Given the description of an element on the screen output the (x, y) to click on. 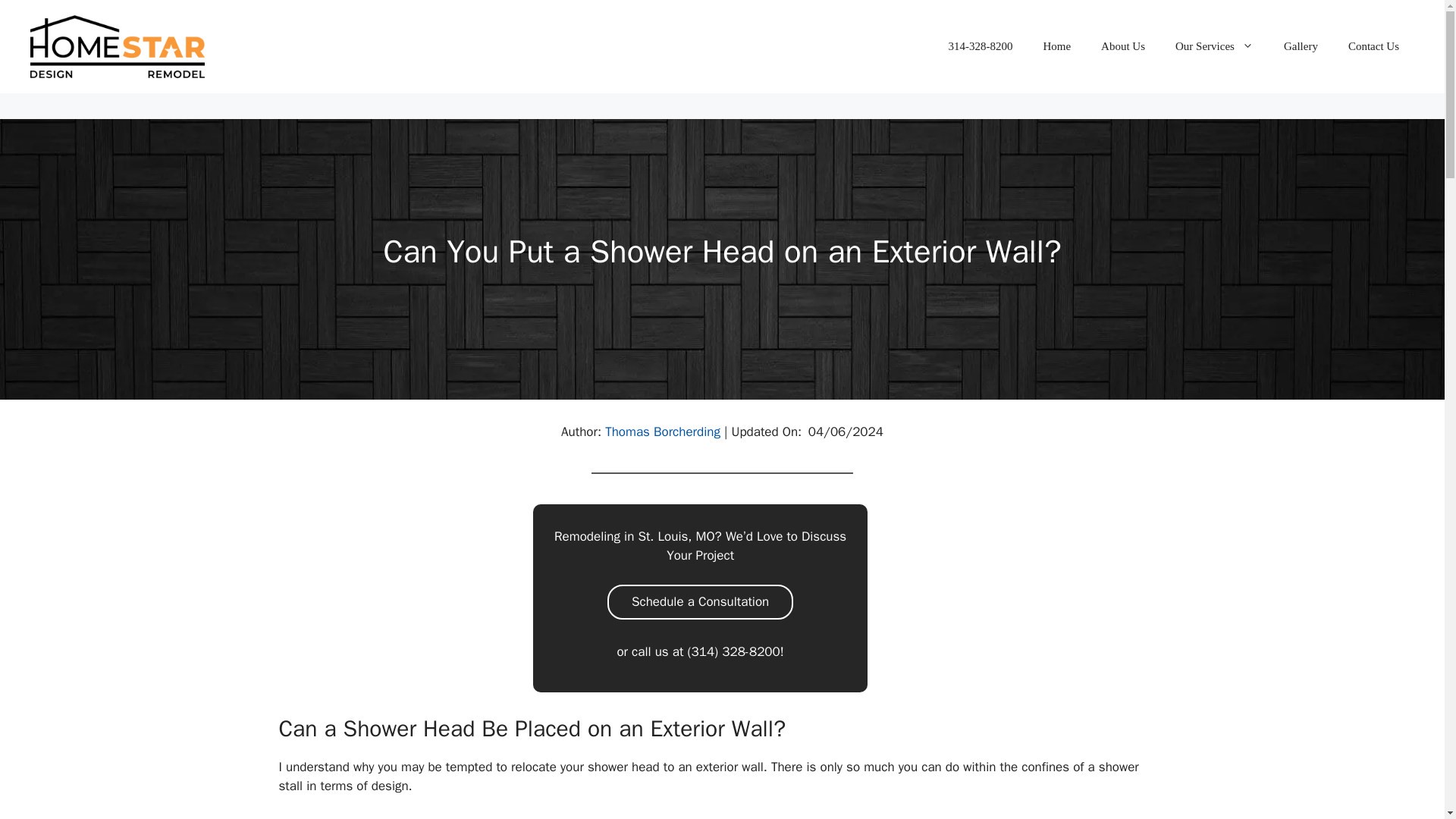
Our Services (1214, 45)
About Us (1123, 45)
Schedule a Consultation (700, 601)
Gallery (1300, 45)
Home (1056, 45)
314-328-8200 (980, 45)
Contact Us (1373, 45)
Thomas Borcherding (662, 431)
